Given the description of an element on the screen output the (x, y) to click on. 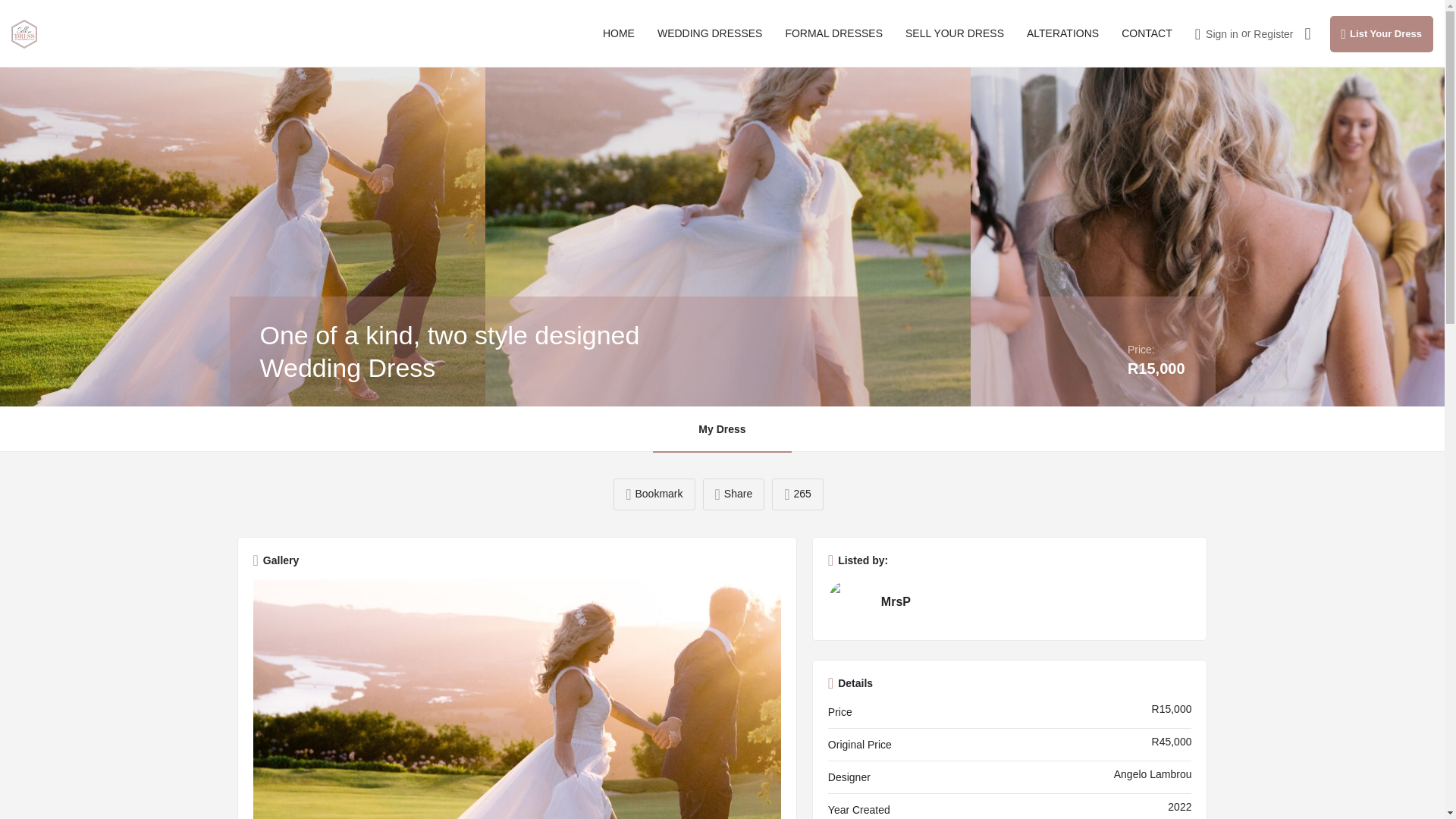
CONTACT (1146, 32)
Register (1272, 33)
Bookmark (653, 494)
MrsP (1010, 601)
My Dress (721, 429)
265 (797, 494)
View your shopping cart (1307, 33)
ALTERATIONS (1062, 32)
List Your Dress (1381, 33)
FORMAL DRESSES (833, 32)
HOME (618, 32)
Share (732, 494)
WEDDING DRESSES (709, 32)
Sign in (1222, 33)
SELL YOUR DRESS (954, 32)
